Given the description of an element on the screen output the (x, y) to click on. 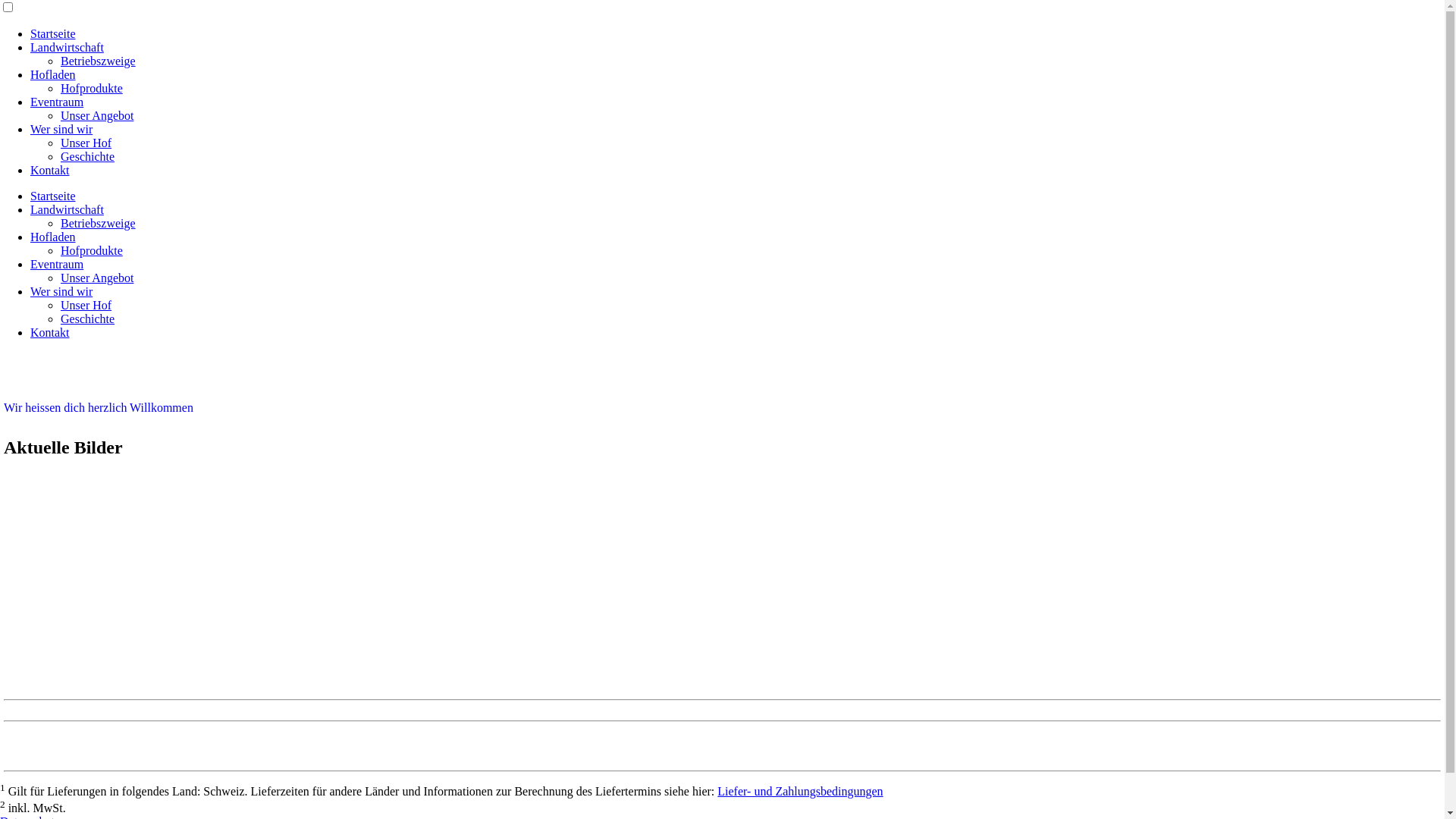
Startseite Element type: text (52, 33)
Landwirtschaft Element type: text (66, 46)
Geschichte Element type: text (87, 318)
Betriebszweige Element type: text (97, 222)
Betriebszweige Element type: text (97, 60)
Wer sind wir Element type: text (61, 128)
Eventraum Element type: text (56, 101)
Unser Angebot Element type: text (96, 277)
Geschichte Element type: text (87, 156)
Unser Hof Element type: text (85, 304)
Landwirtschaft Element type: text (66, 209)
Eventraum Element type: text (56, 263)
Hofladen Element type: text (52, 236)
Startseite Element type: text (52, 195)
Unser Hof Element type: text (85, 142)
Hofprodukte Element type: text (91, 250)
Hofprodukte Element type: text (91, 87)
Hofladen Element type: text (52, 74)
Wir heissen dich herzlich Willkommen Element type: text (98, 407)
Wer sind wir Element type: text (61, 291)
Liefer- und Zahlungsbedingungen Element type: text (799, 790)
Unser Angebot Element type: text (96, 115)
Kontakt Element type: text (49, 332)
Kontakt Element type: text (49, 169)
